Given the description of an element on the screen output the (x, y) to click on. 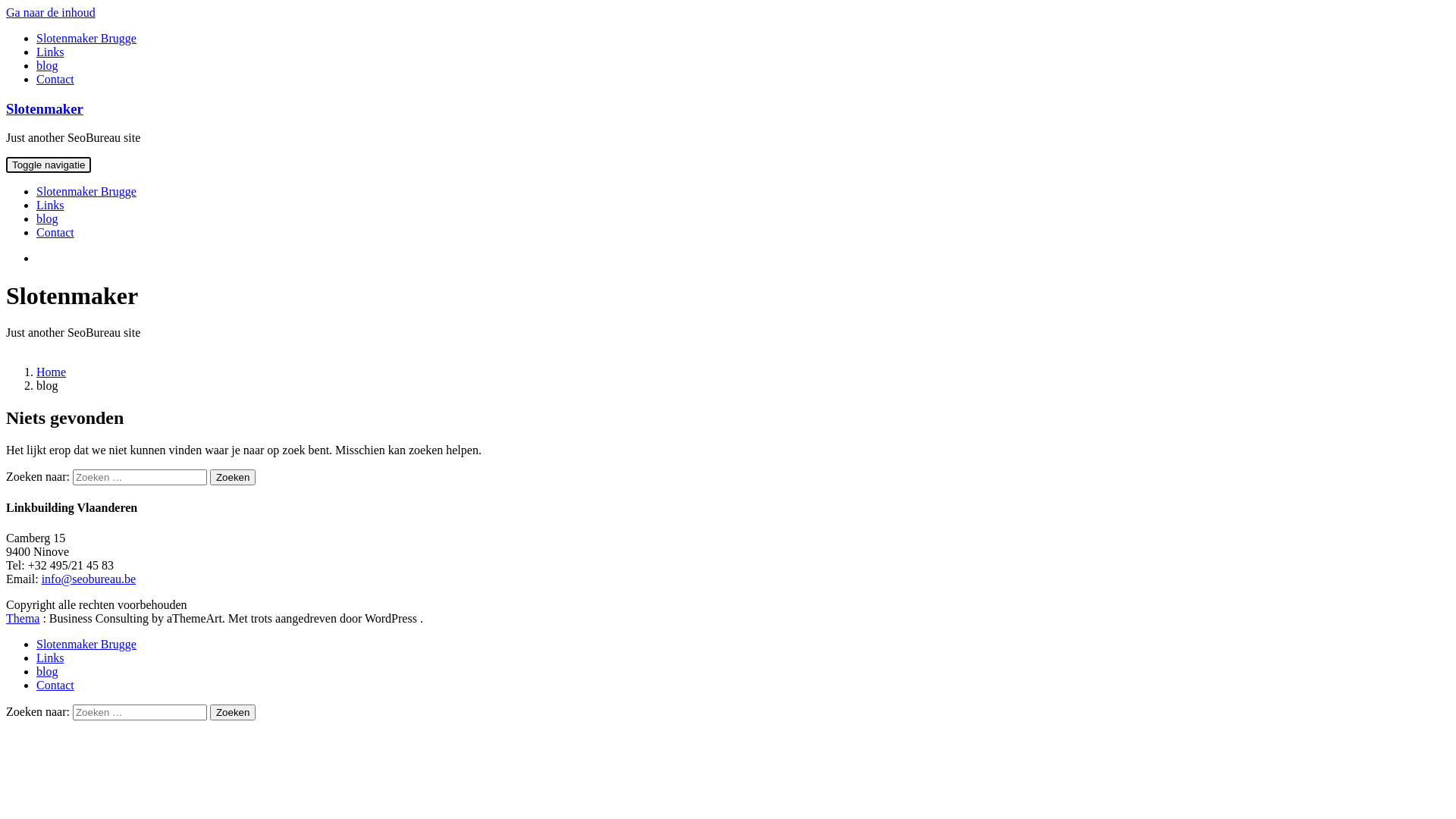
Slotenmaker Brugge Element type: text (86, 191)
Zoeken Element type: text (232, 712)
info@seobureau.be Element type: text (88, 578)
Ga naar de inhoud Element type: text (50, 12)
Slotenmaker Brugge Element type: text (86, 37)
Home Element type: text (50, 371)
Links Element type: text (49, 51)
Thema Element type: text (22, 617)
Contact Element type: text (55, 231)
Contact Element type: text (55, 78)
blog Element type: text (46, 671)
blog Element type: text (46, 218)
Toggle navigatie Element type: text (48, 164)
Slotenmaker Brugge Element type: text (86, 643)
Links Element type: text (49, 657)
Links Element type: text (49, 204)
Contact Element type: text (55, 684)
Slotenmaker Element type: text (44, 108)
blog Element type: text (46, 65)
Zoeken Element type: text (232, 477)
